Given the description of an element on the screen output the (x, y) to click on. 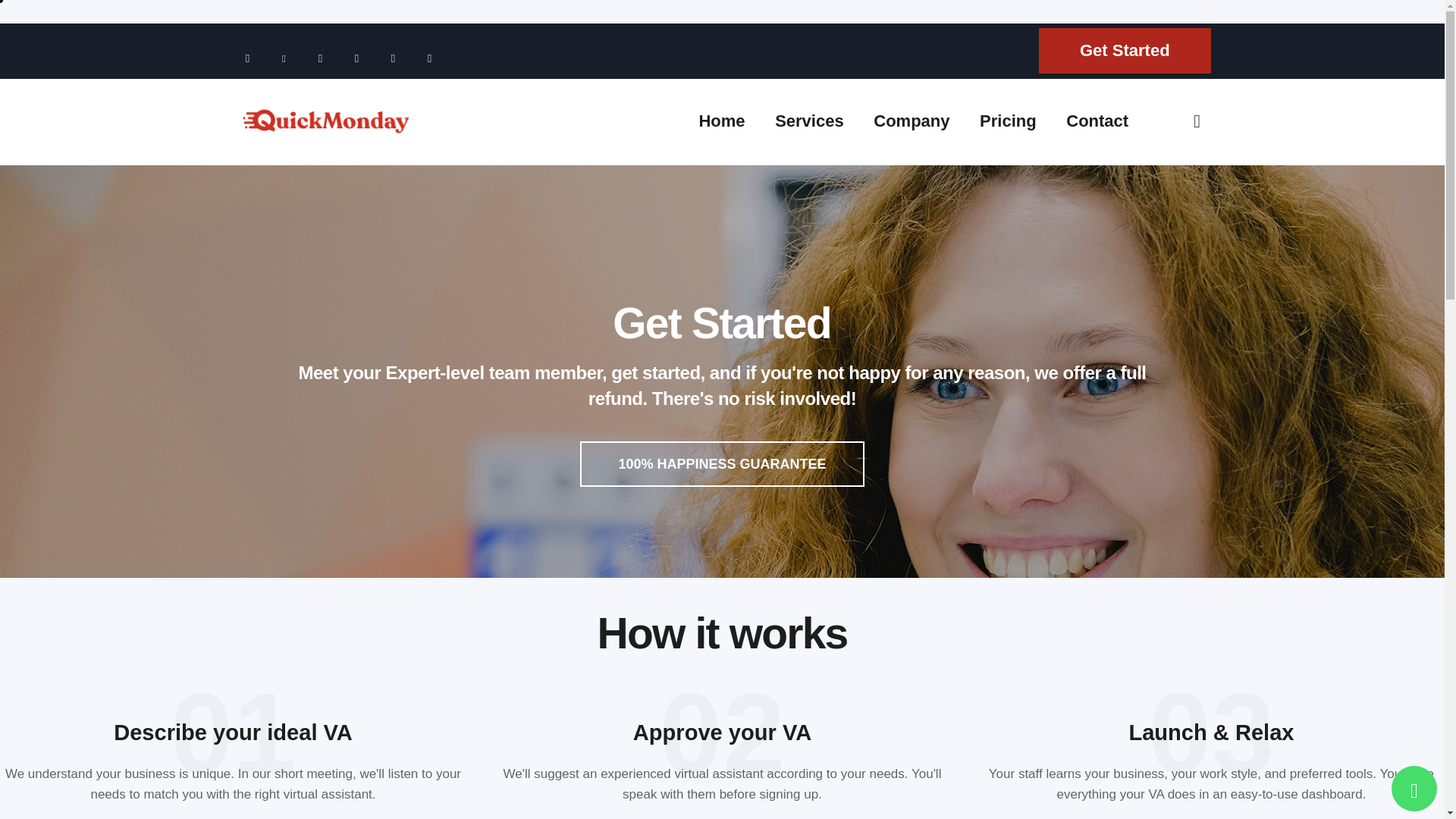
Home (722, 121)
Get Started (1125, 57)
Services (809, 121)
Company (911, 121)
Pricing (1007, 121)
Contact (1096, 121)
